Given the description of an element on the screen output the (x, y) to click on. 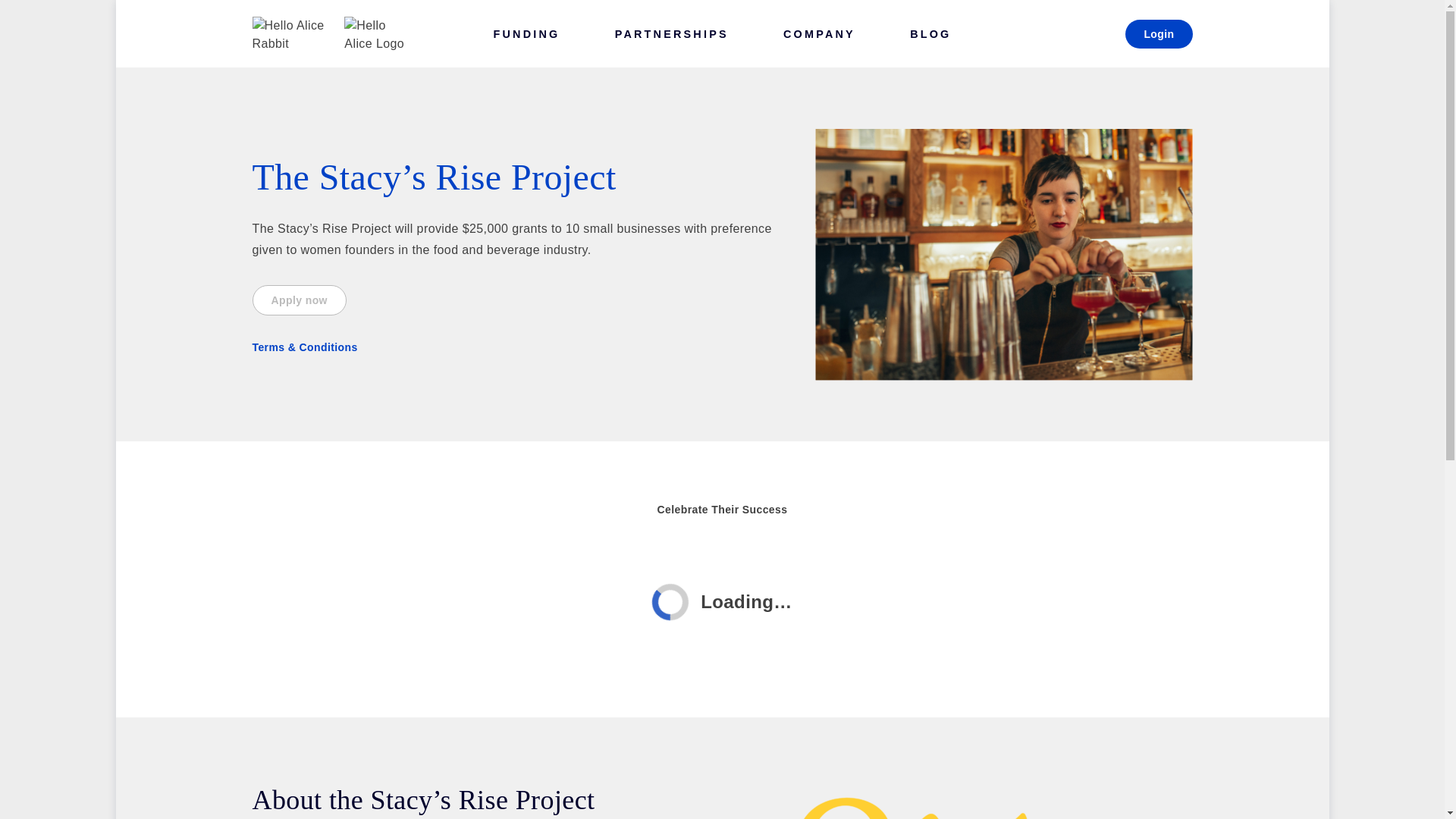
COMPANY (819, 33)
PARTNERSHIPS (671, 33)
FUNDING (526, 33)
Apply now (298, 300)
Return to homepage (330, 33)
Login (1158, 33)
BLOG (930, 33)
